Given the description of an element on the screen output the (x, y) to click on. 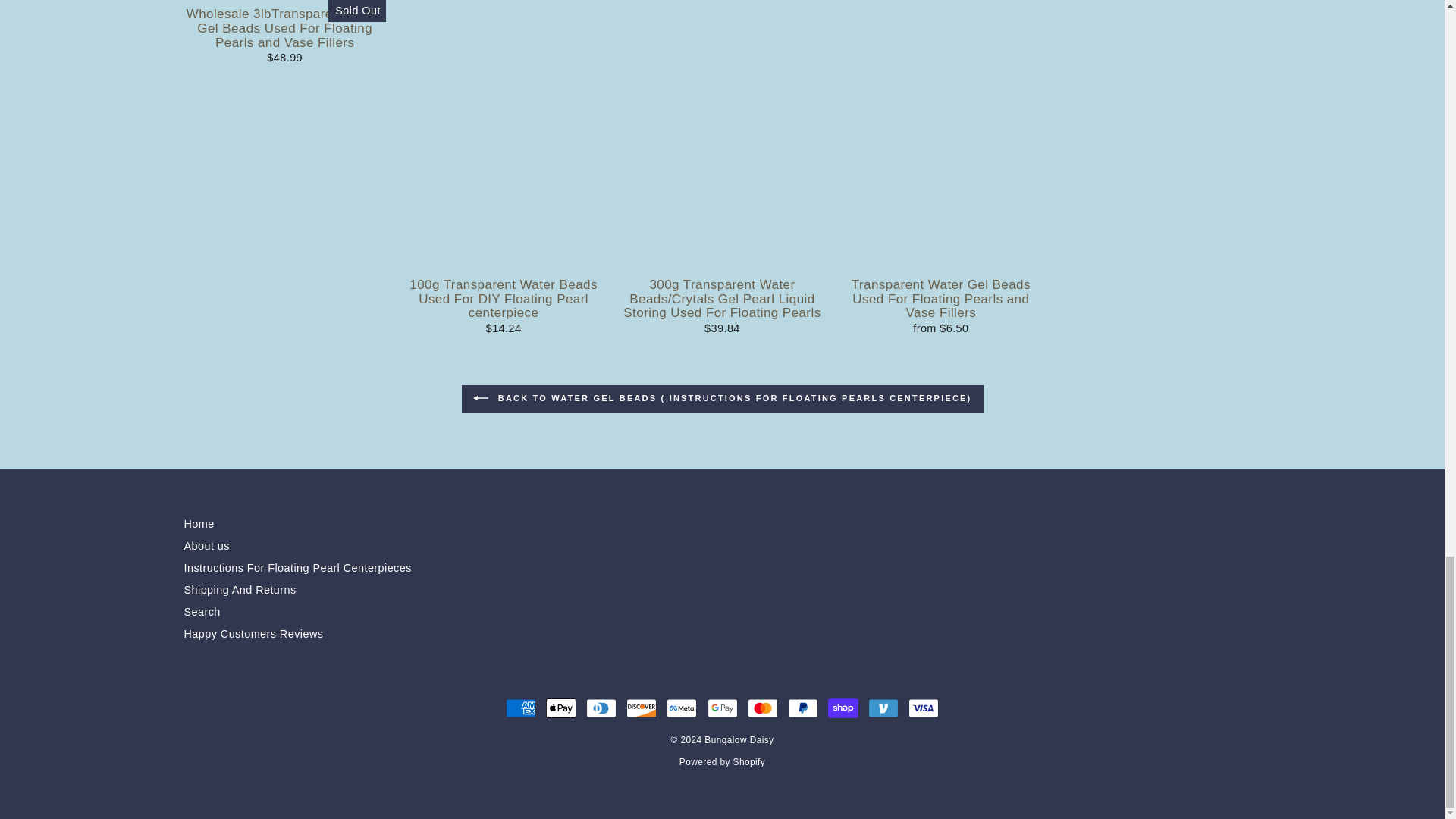
Google Pay (721, 707)
Meta Pay (681, 707)
Mastercard (762, 707)
Apple Pay (561, 707)
PayPal (802, 707)
Diners Club (600, 707)
Discover (641, 707)
American Express (520, 707)
